Given the description of an element on the screen output the (x, y) to click on. 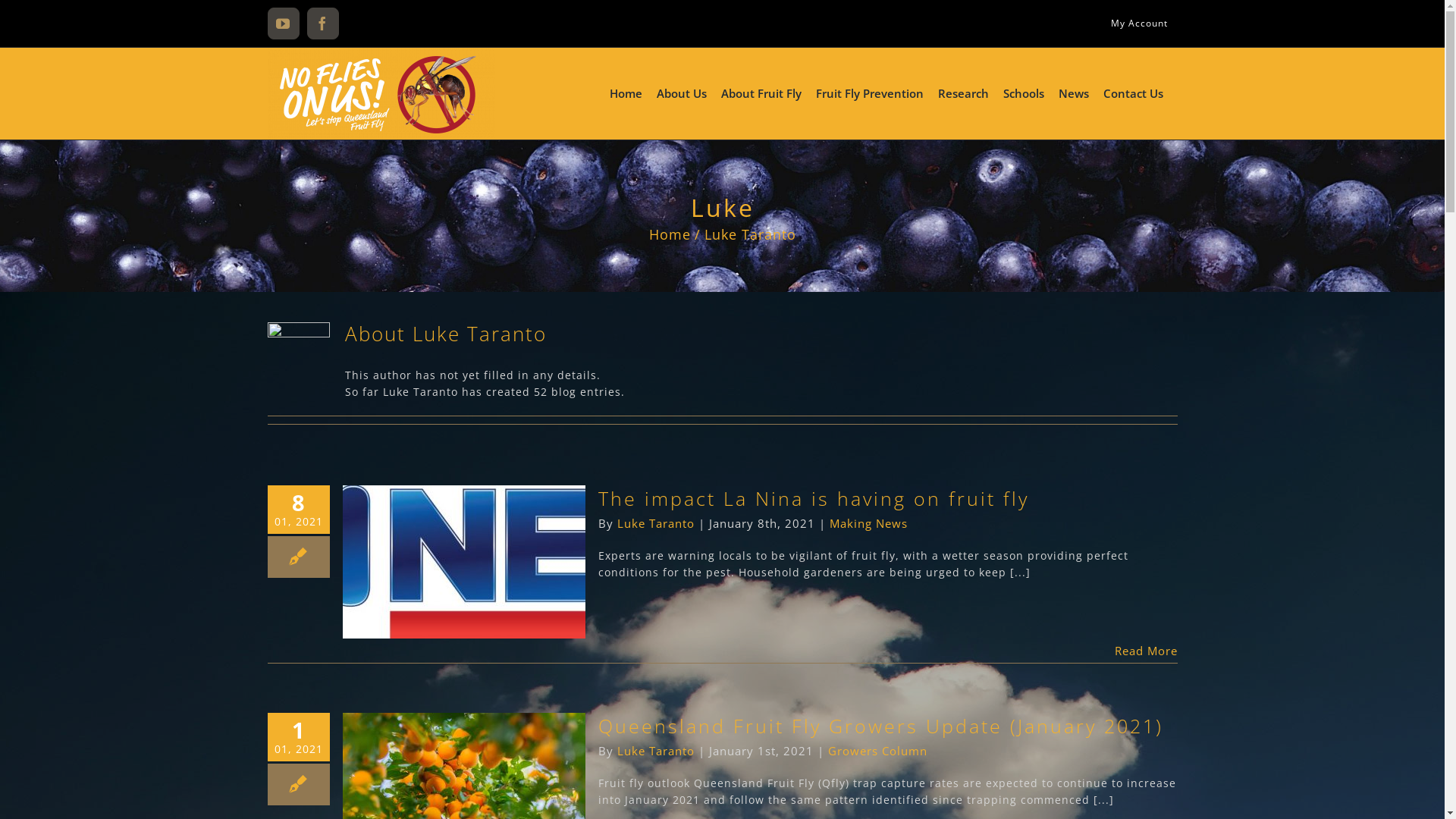
Making News Element type: text (868, 522)
My Account Element type: text (1139, 23)
Luke Taranto Element type: text (655, 750)
Fruit Fly Prevention Element type: text (869, 92)
The impact La Nina is having on fruit fly Element type: text (812, 498)
Home Element type: text (625, 92)
About Fruit Fly Element type: text (760, 92)
Schools Element type: text (1022, 92)
About Us Element type: text (681, 92)
Contact Us Element type: text (1132, 92)
YouTube Element type: text (282, 23)
Read More Element type: text (1145, 650)
Home Element type: text (669, 234)
Queensland Fruit Fly Growers Update (January 2021) Element type: text (879, 725)
Growers Column Element type: text (877, 750)
Facebook Element type: text (322, 23)
Research Element type: text (962, 92)
Luke Taranto Element type: text (655, 522)
News Element type: text (1073, 92)
